Given the description of an element on the screen output the (x, y) to click on. 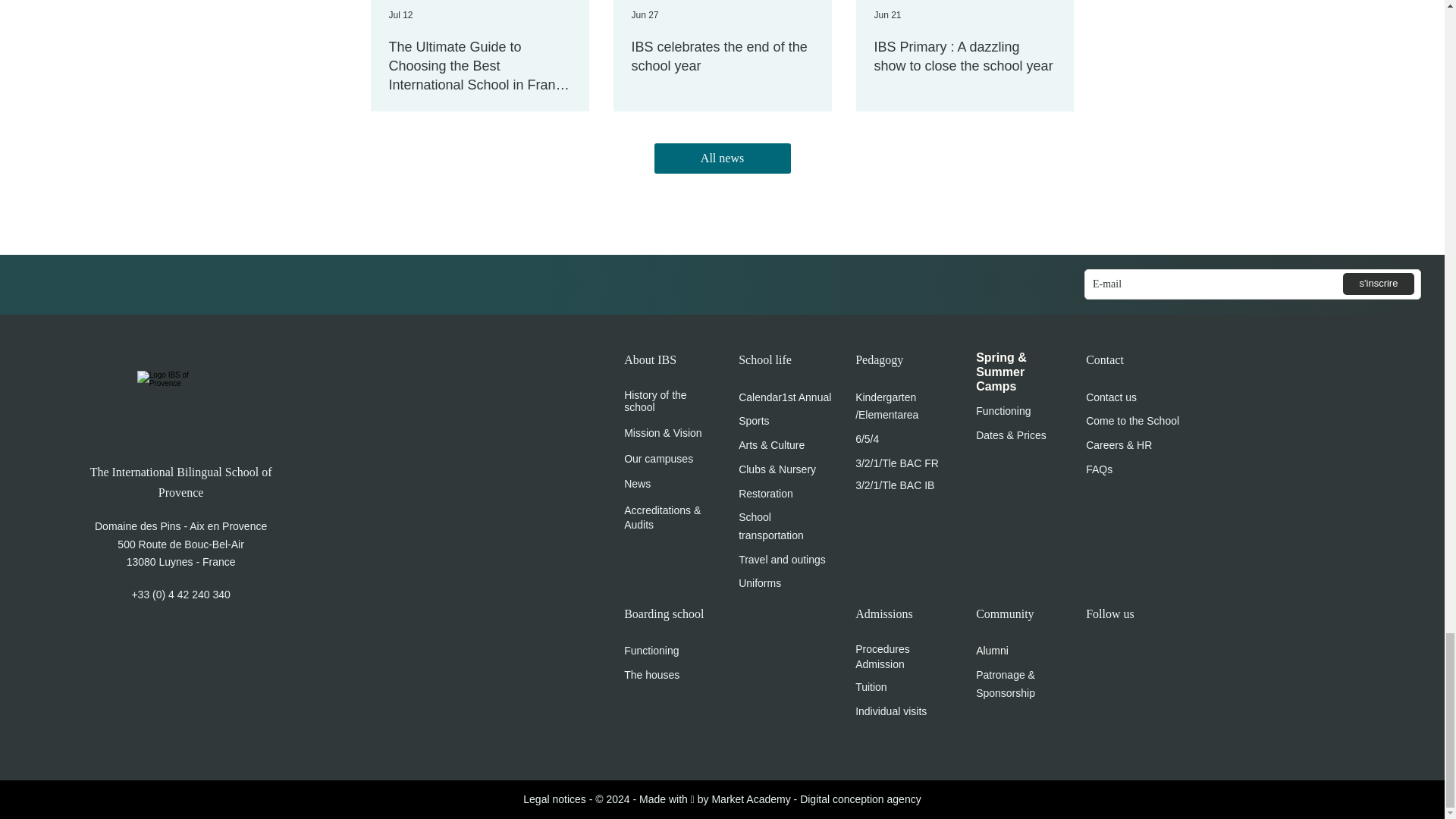
Jun 21 (887, 14)
Jul 12 (400, 14)
Jun 27 (644, 14)
